Given the description of an element on the screen output the (x, y) to click on. 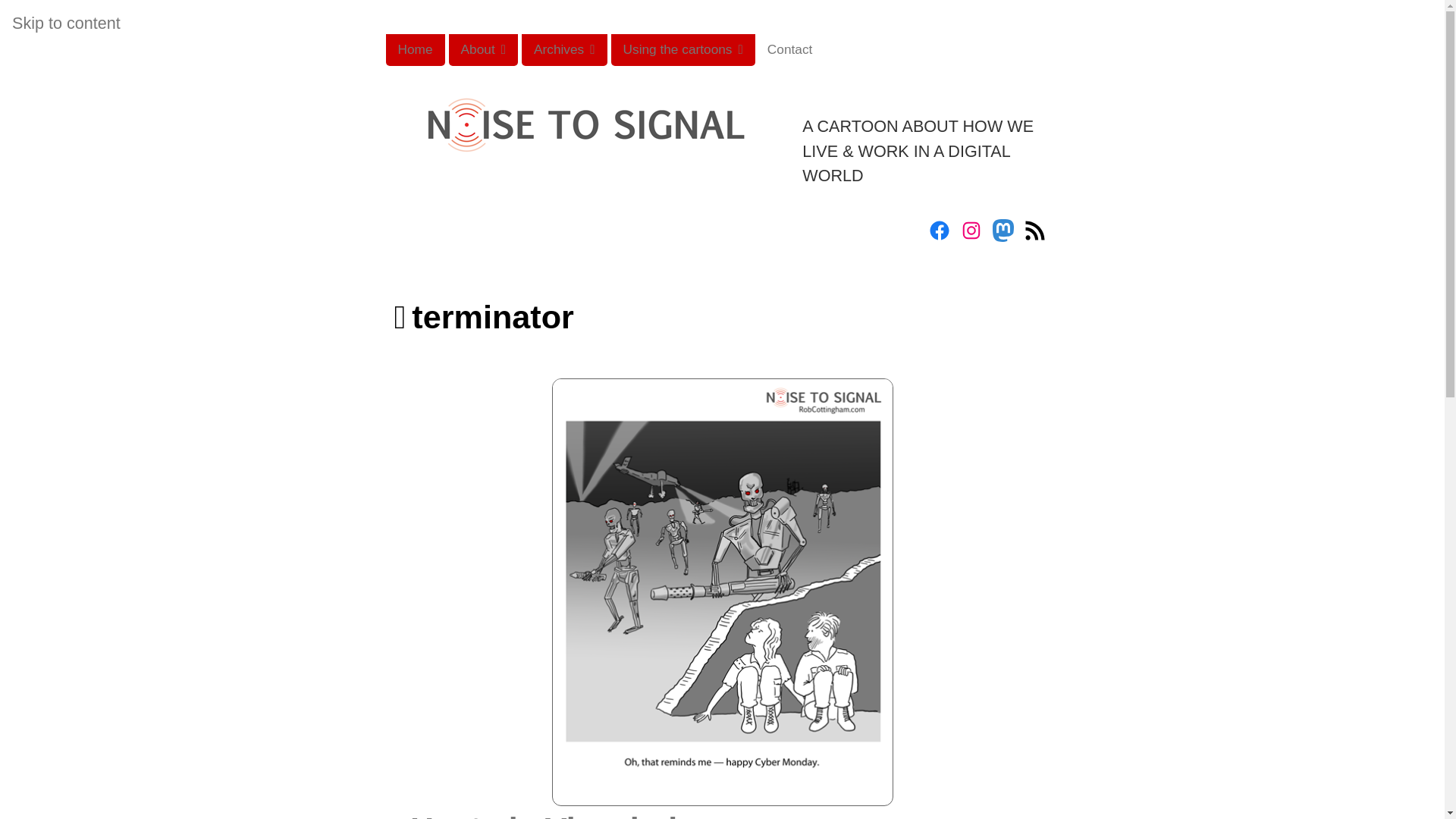
Home (414, 49)
Skip to content (65, 22)
RSS Feed (1034, 230)
Mastodon (1002, 230)
Contact (790, 49)
Archives (564, 49)
Instagram (970, 230)
Facebook (939, 230)
Using the cartoons (683, 49)
Hasta la Visa, baby (558, 814)
